Given the description of an element on the screen output the (x, y) to click on. 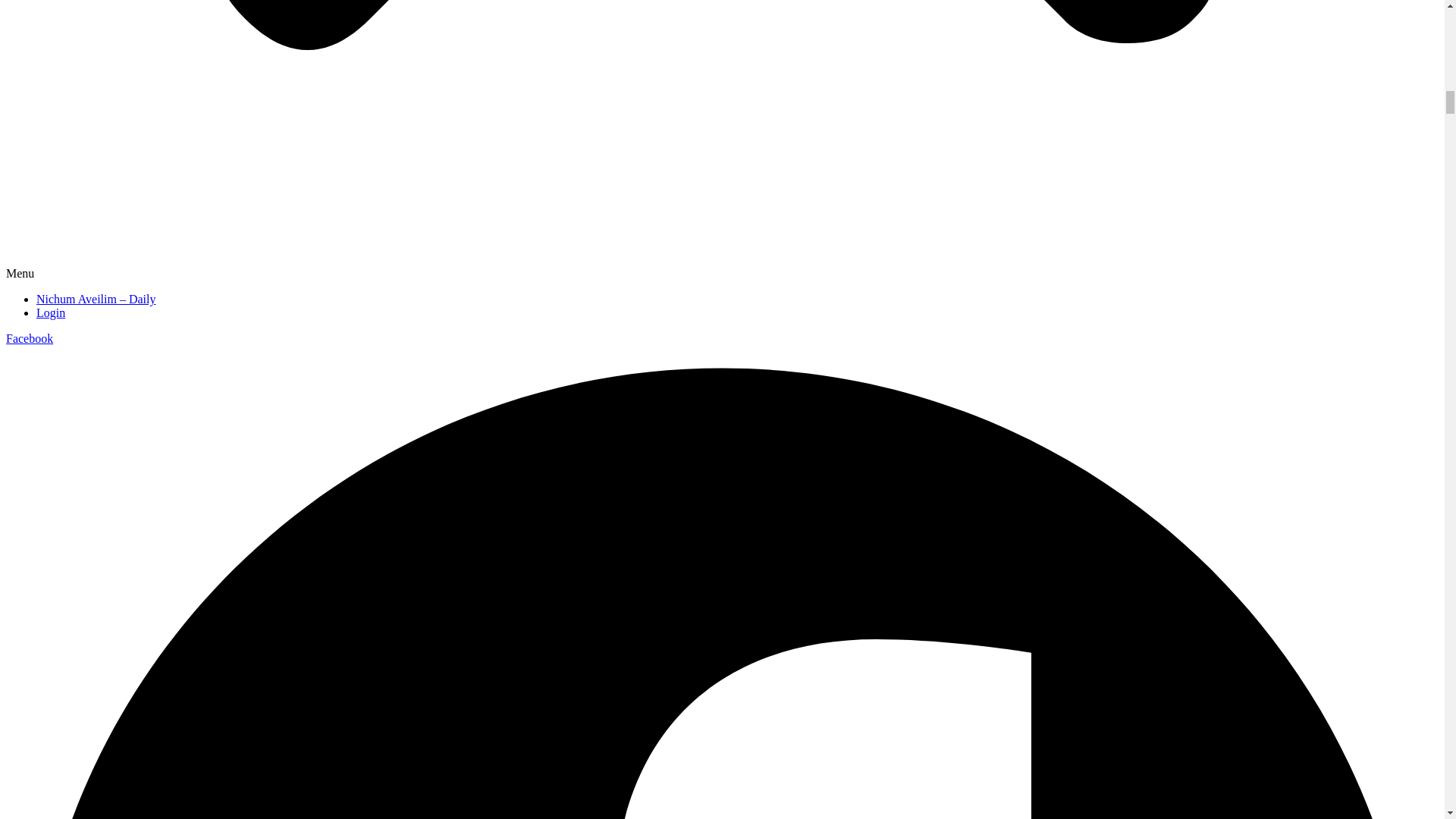
Login (50, 312)
